Given the description of an element on the screen output the (x, y) to click on. 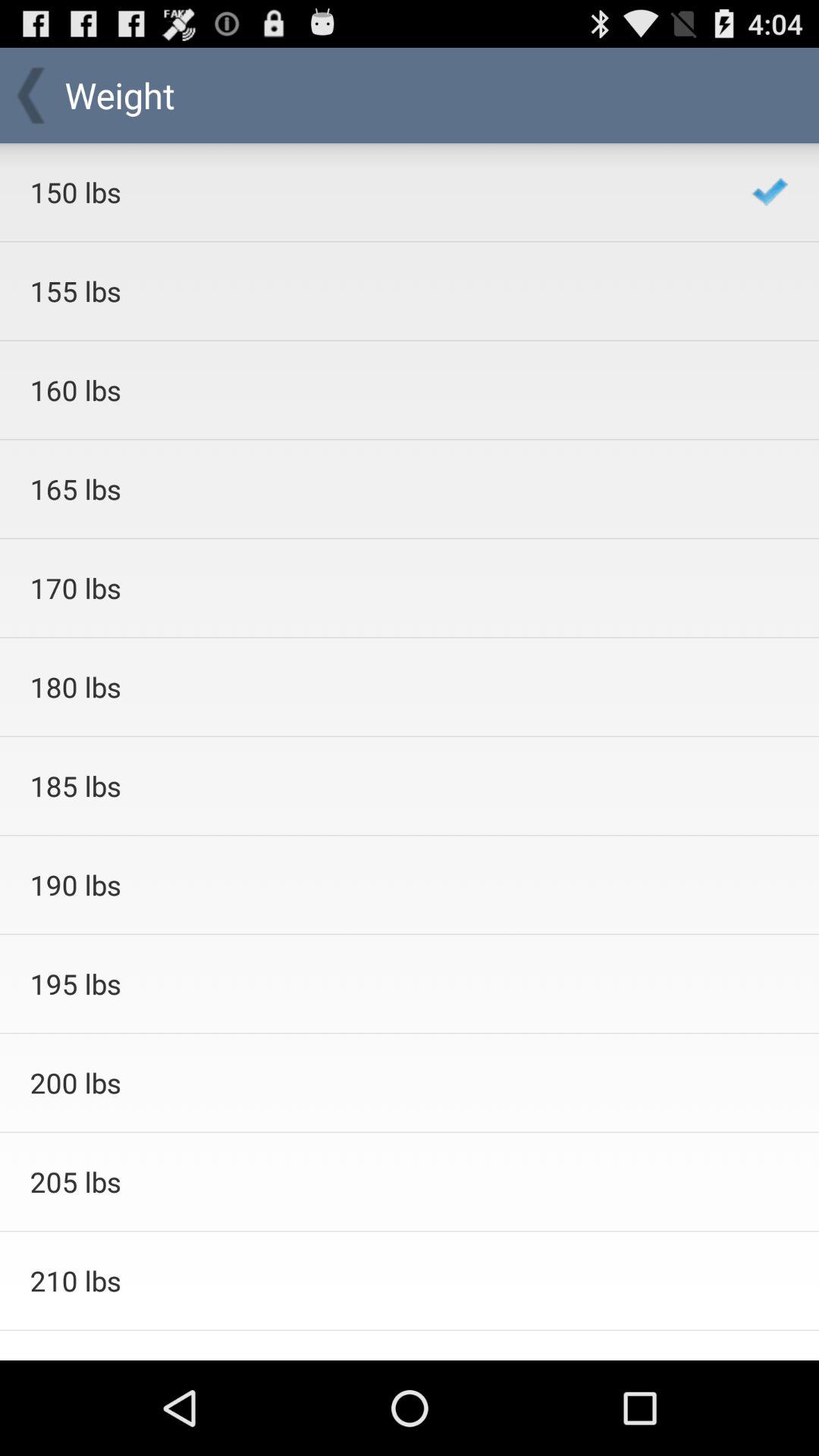
swipe to 170 lbs icon (371, 587)
